Given the description of an element on the screen output the (x, y) to click on. 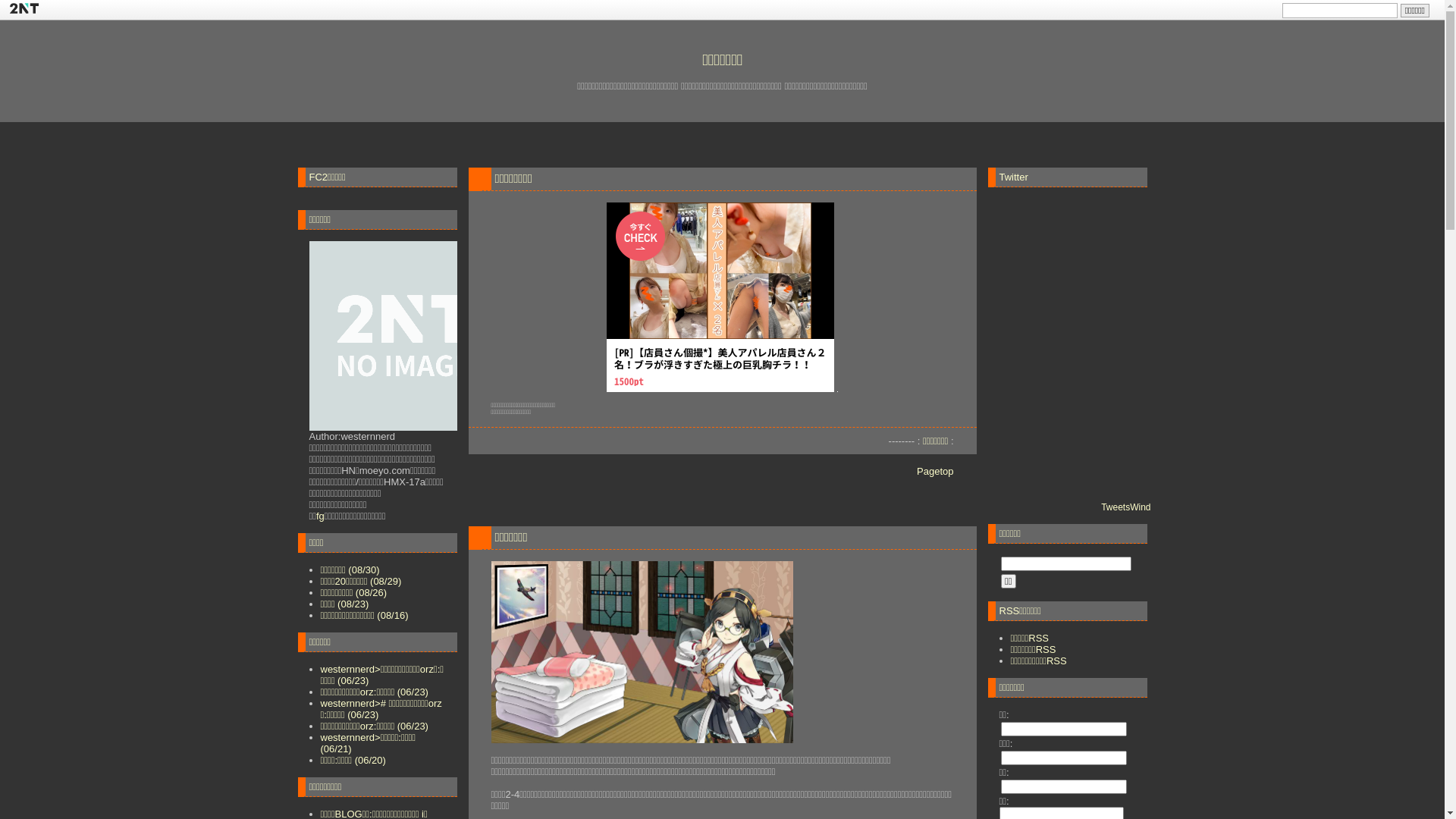
fg Element type: text (320, 515)
Pagetop Element type: text (934, 470)
TweetsWind Element type: text (1125, 507)
